Given the description of an element on the screen output the (x, y) to click on. 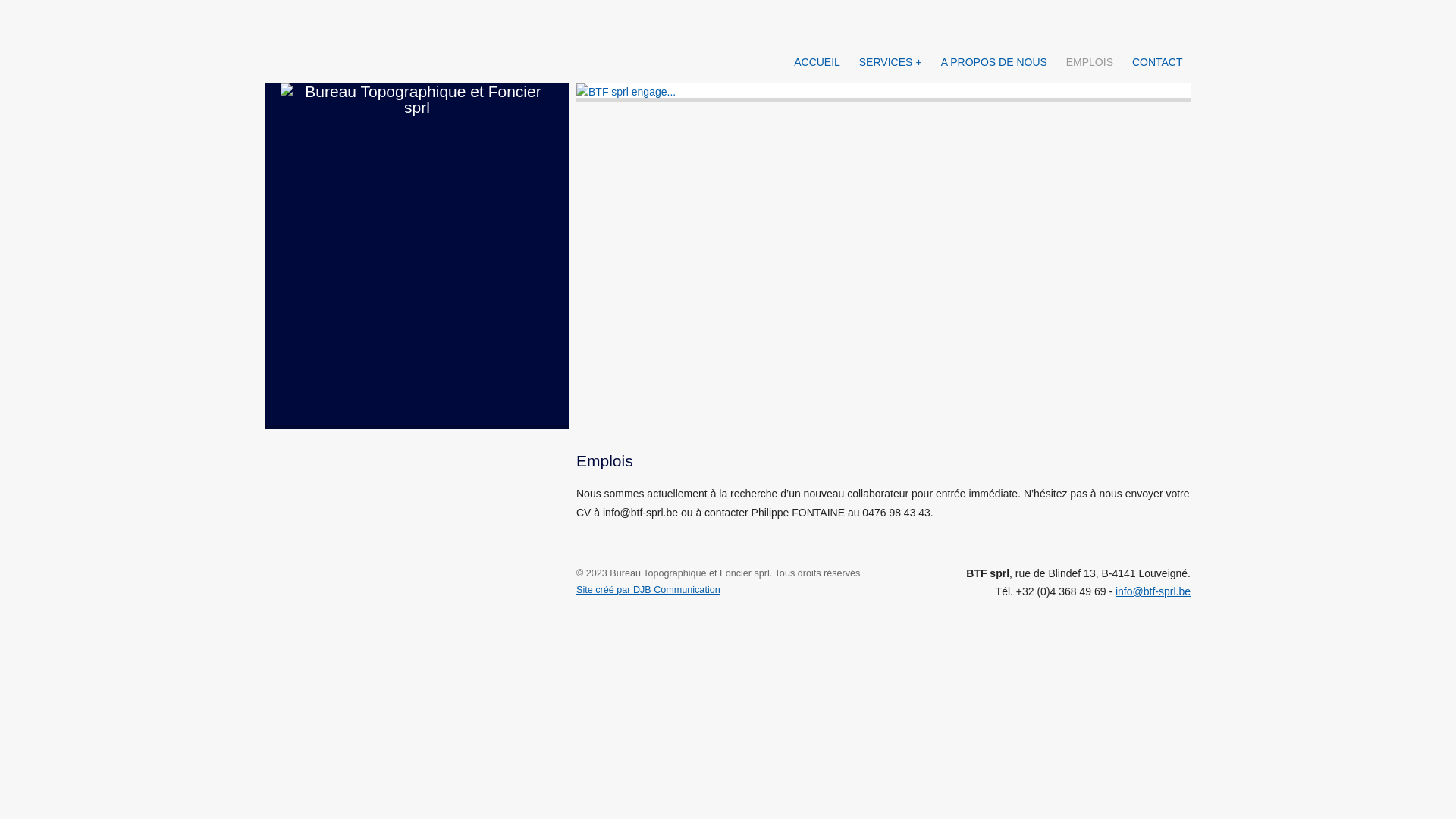
ACCUEIL Element type: text (817, 62)
CONTACT Element type: text (1156, 62)
EMPLOIS Element type: text (1088, 62)
Bureau Topographique et Foncier sprl Element type: hover (416, 256)
SERVICES Element type: text (889, 62)
A PROPOS DE NOUS Element type: text (993, 62)
info@btf-sprl.be Element type: text (1152, 591)
